Given the description of an element on the screen output the (x, y) to click on. 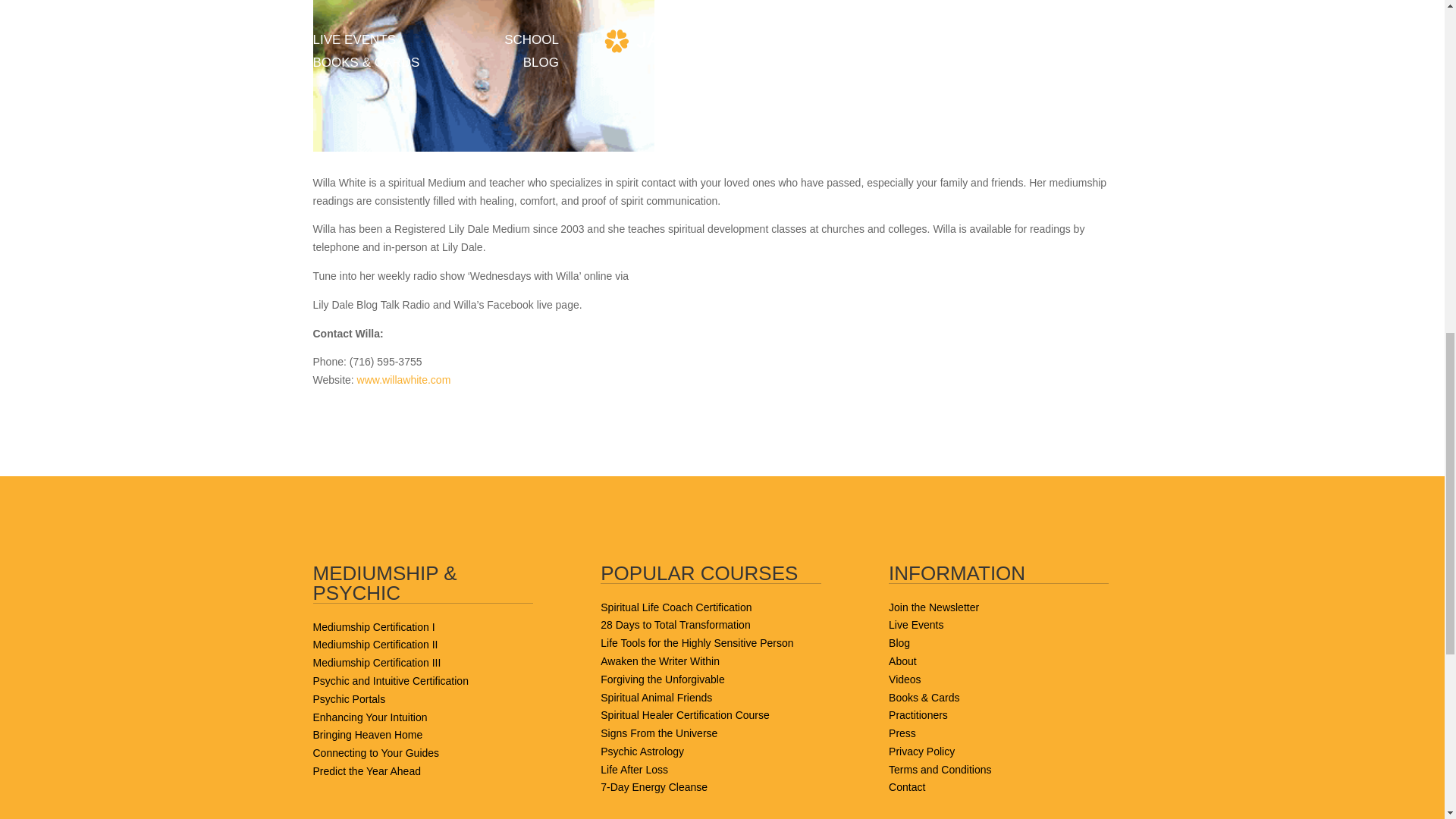
Spiritual Life Coach Certification (675, 607)
Connecting to Your Guides (376, 752)
Willa-White (483, 75)
Psychic Portals (349, 698)
Mediumship Certification I (373, 626)
Mediumship Certification III (377, 662)
www.willawhite.com (403, 379)
Mediumship Certification II (375, 644)
Bringing Heaven Home (367, 734)
Life Tools for the Highly Sensitive Person (696, 643)
Forgiving the Unforgivable (661, 679)
28 Days to Total Transformation (674, 624)
Psychic and Intuitive Certification (390, 680)
Predict the Year Ahead (366, 770)
Enhancing Your Intuition (369, 717)
